Given the description of an element on the screen output the (x, y) to click on. 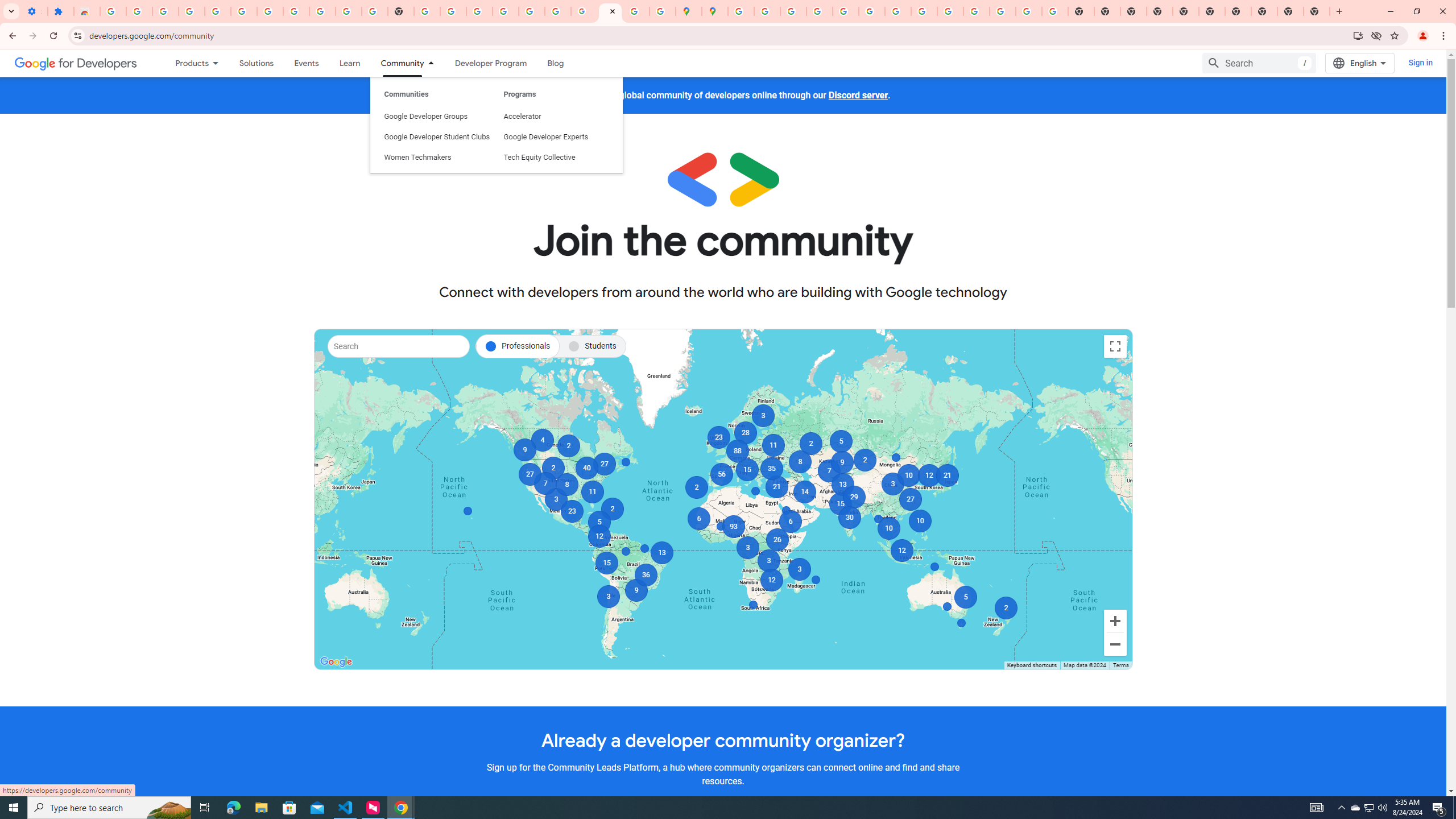
Already a developer community organizer? (722, 739)
Privacy Help Center - Policies Help (818, 11)
21 (947, 475)
15 (746, 469)
35 (771, 468)
Dropdown menu for Products (219, 62)
Reviews: Helix Fruit Jump Arcade Game (86, 11)
Learning Catalog (350, 62)
10 (908, 475)
6 (698, 517)
New Tab (1159, 11)
